Given the description of an element on the screen output the (x, y) to click on. 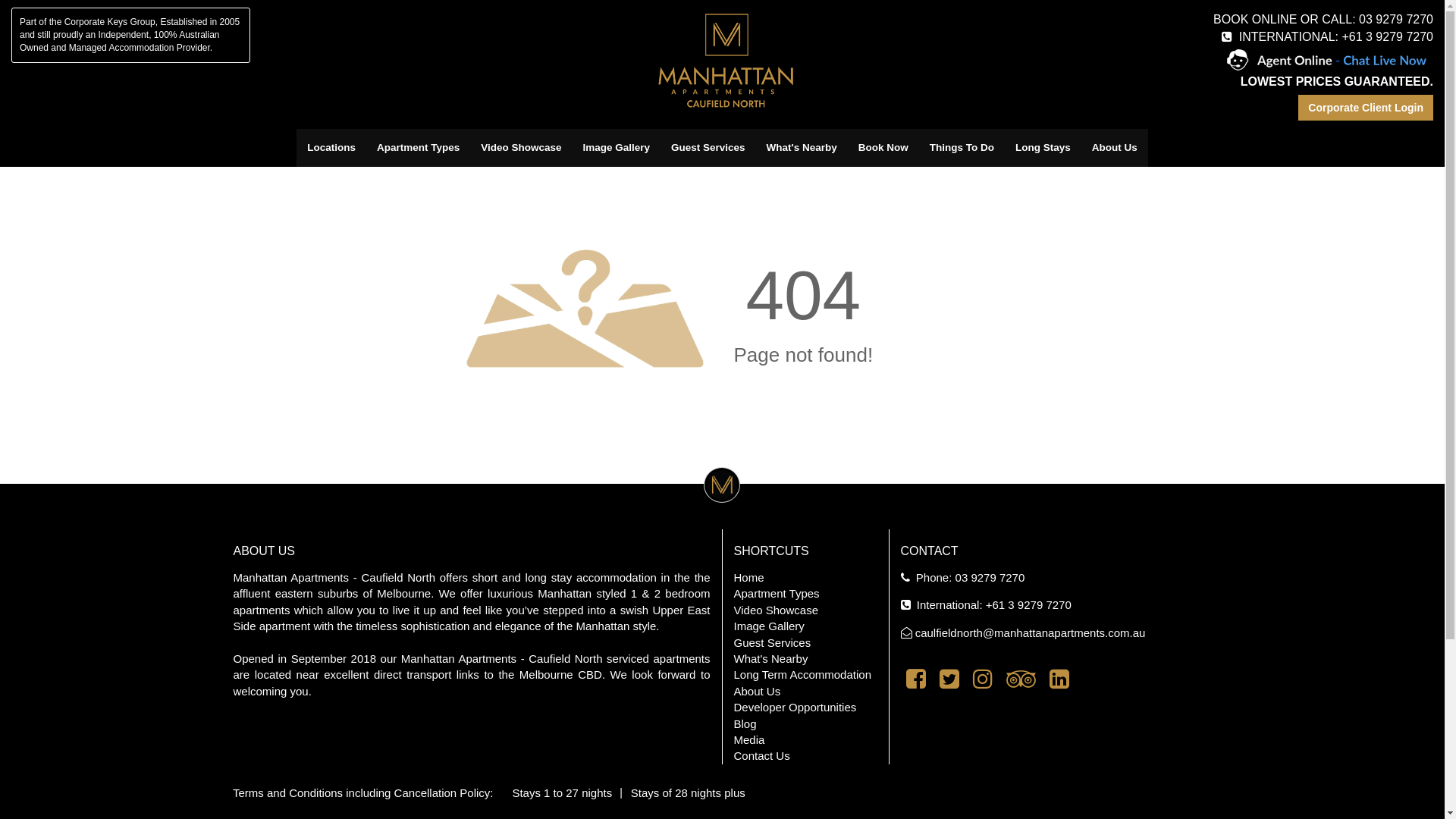
About Us Element type: text (757, 690)
Stays 1 to 27 nights Element type: text (561, 792)
Book Now Element type: text (883, 147)
Video Showcase Element type: text (520, 147)
Corporate Client Login Element type: text (1365, 107)
What's Nearby Element type: text (771, 658)
Contact Us Element type: text (762, 755)
Guest Services Element type: text (708, 147)
Apartment Types Element type: text (776, 592)
Image Gallery Element type: text (769, 625)
What's Nearby Element type: text (801, 147)
Stays of 28 nights plus Element type: text (687, 792)
Things To Do Element type: text (961, 147)
Blog Element type: text (745, 723)
Media Element type: text (749, 739)
Long Term Accommodation Element type: text (803, 674)
Image Gallery Element type: text (615, 147)
Developer Opportunities Element type: text (795, 706)
Home Element type: text (749, 577)
Chat with us Element type: hover (1326, 60)
caulfieldnorth@manhattanapartments.com.au Element type: text (1030, 632)
Apartment Types Element type: text (418, 147)
Long Stays Element type: text (1042, 147)
About Us Element type: text (1114, 147)
Guest Services Element type: text (772, 642)
Video Showcase Element type: text (776, 609)
Locations Element type: text (331, 147)
